Given the description of an element on the screen output the (x, y) to click on. 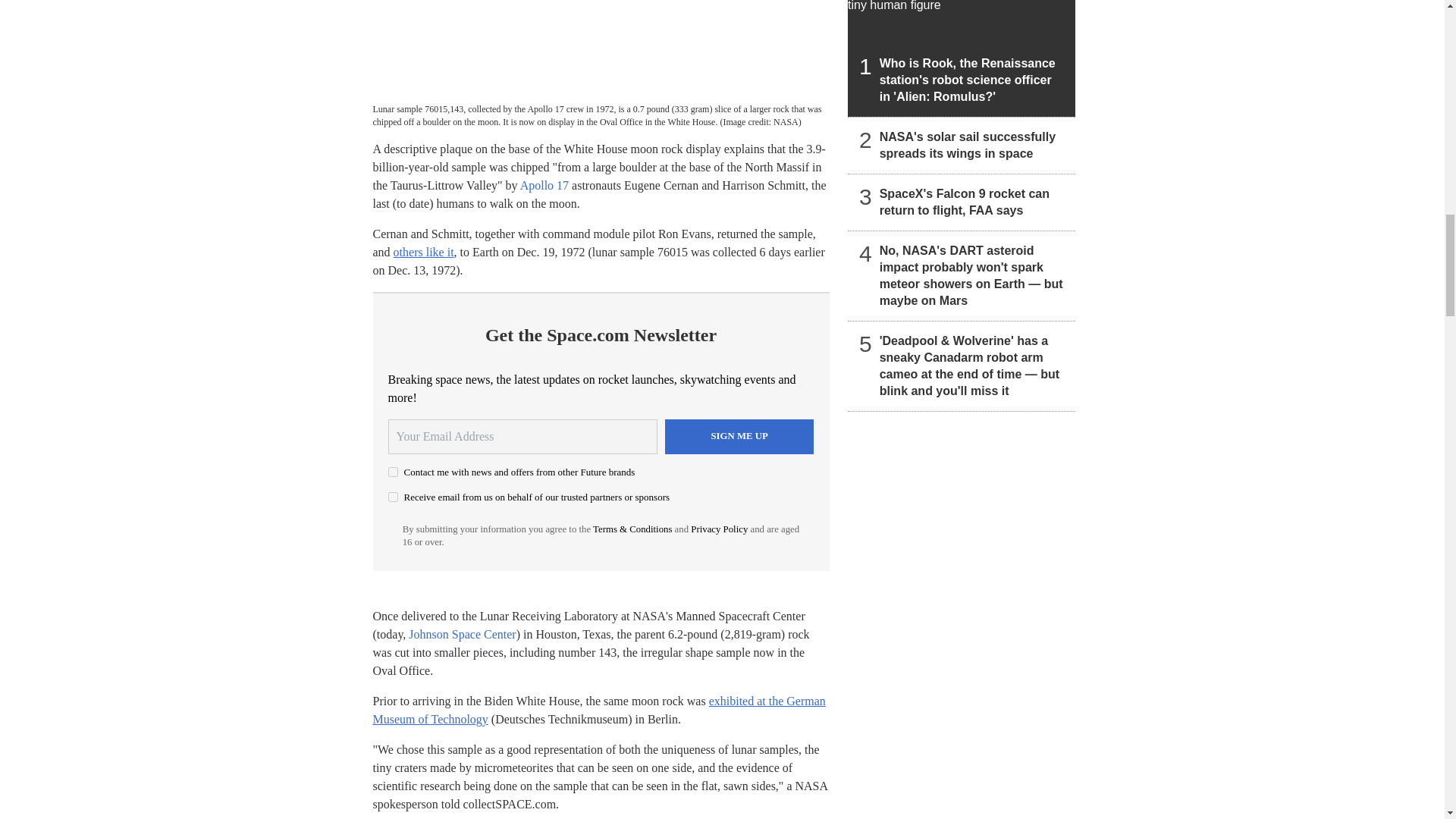
on (392, 471)
Sign me up (739, 436)
on (392, 497)
